Given the description of an element on the screen output the (x, y) to click on. 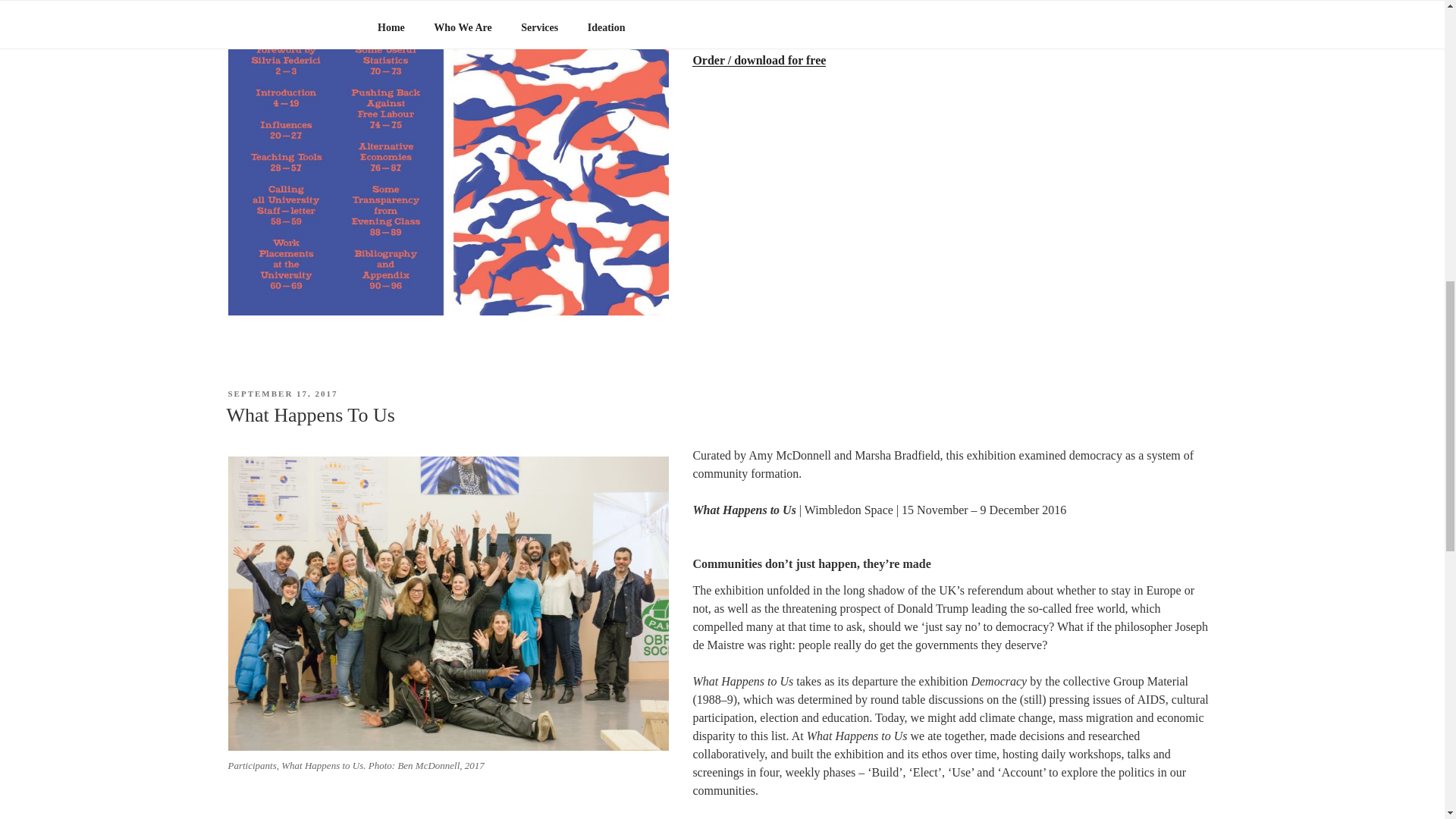
What Happens To Us (309, 414)
SEPTEMBER 17, 2017 (282, 393)
